Given the description of an element on the screen output the (x, y) to click on. 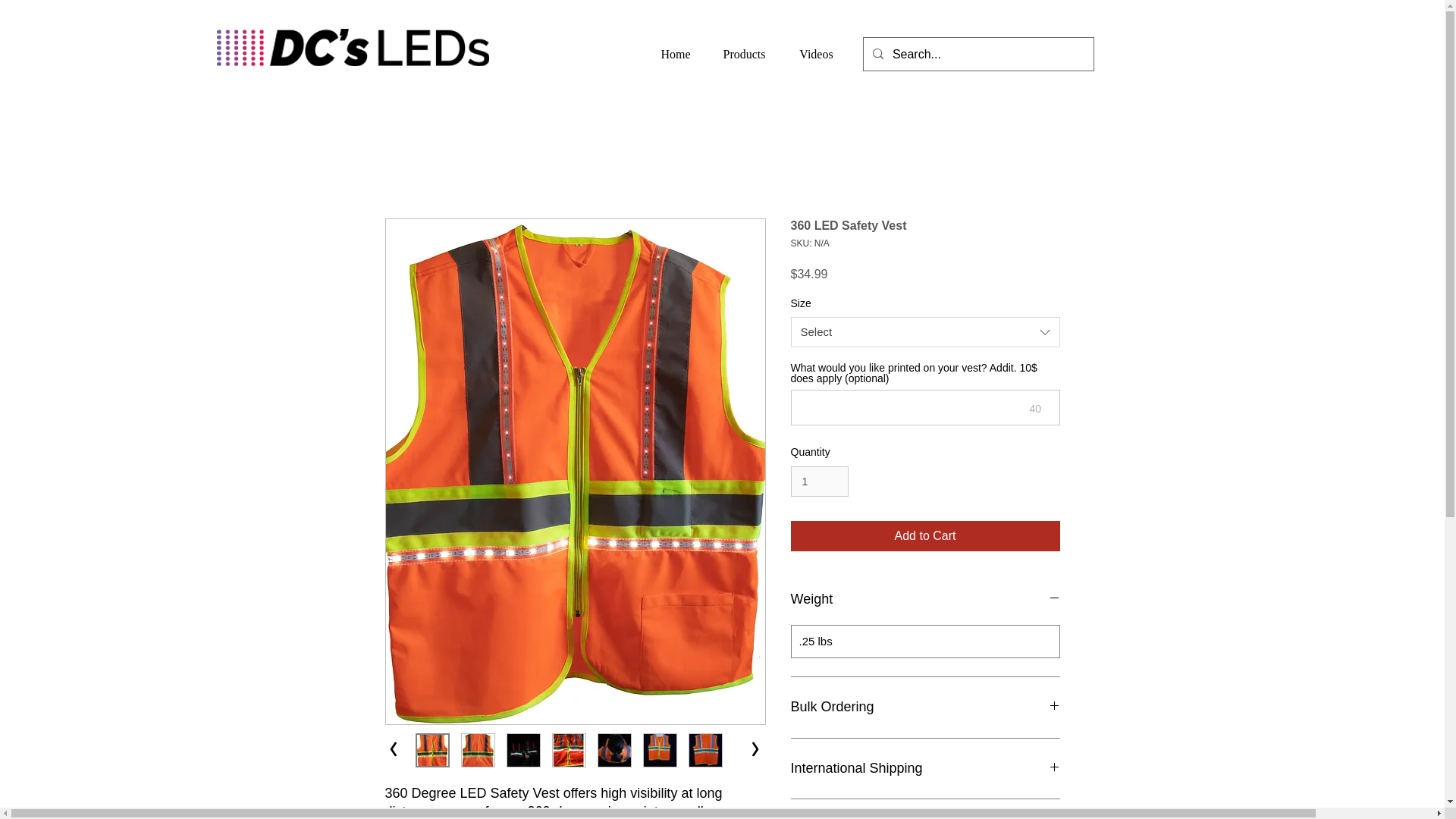
Videos (816, 54)
Home (675, 54)
International Shipping (924, 768)
Bulk Ordering (924, 707)
Weight (924, 599)
Products (744, 54)
Blog (1001, 54)
Contact (885, 54)
Select (924, 331)
